Given the description of an element on the screen output the (x, y) to click on. 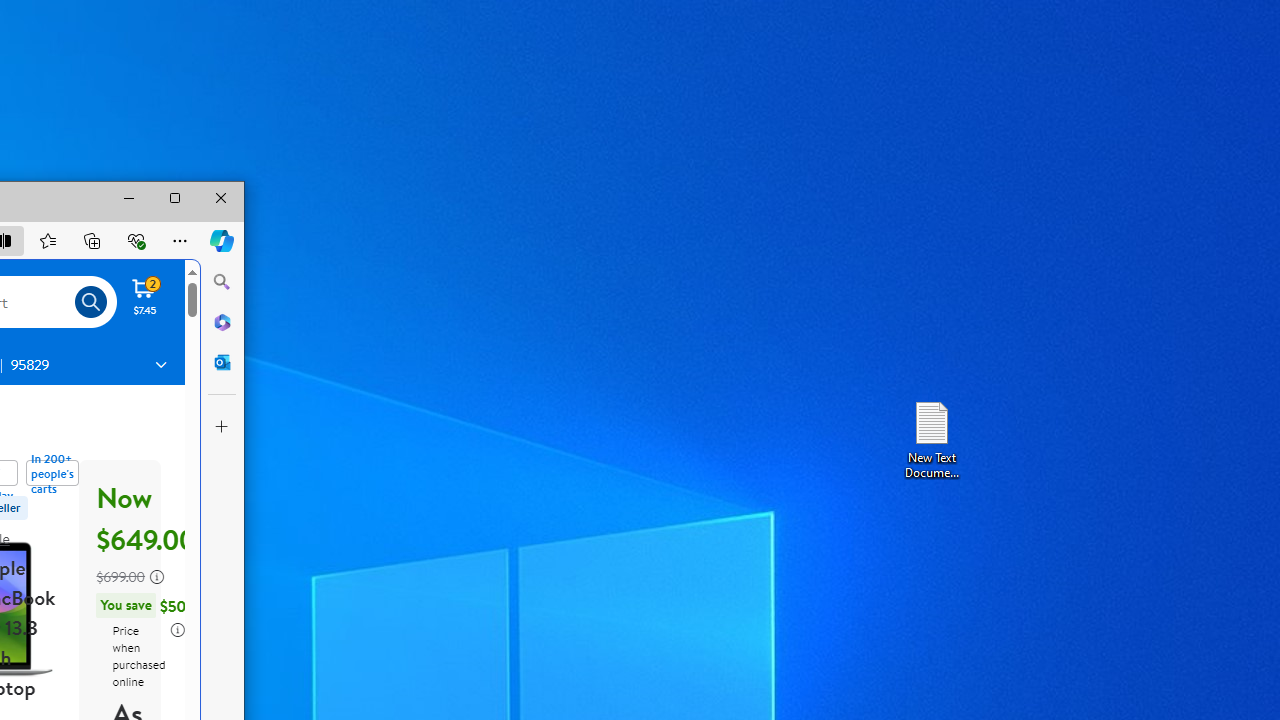
Search icon (91, 301)
